Given the description of an element on the screen output the (x, y) to click on. 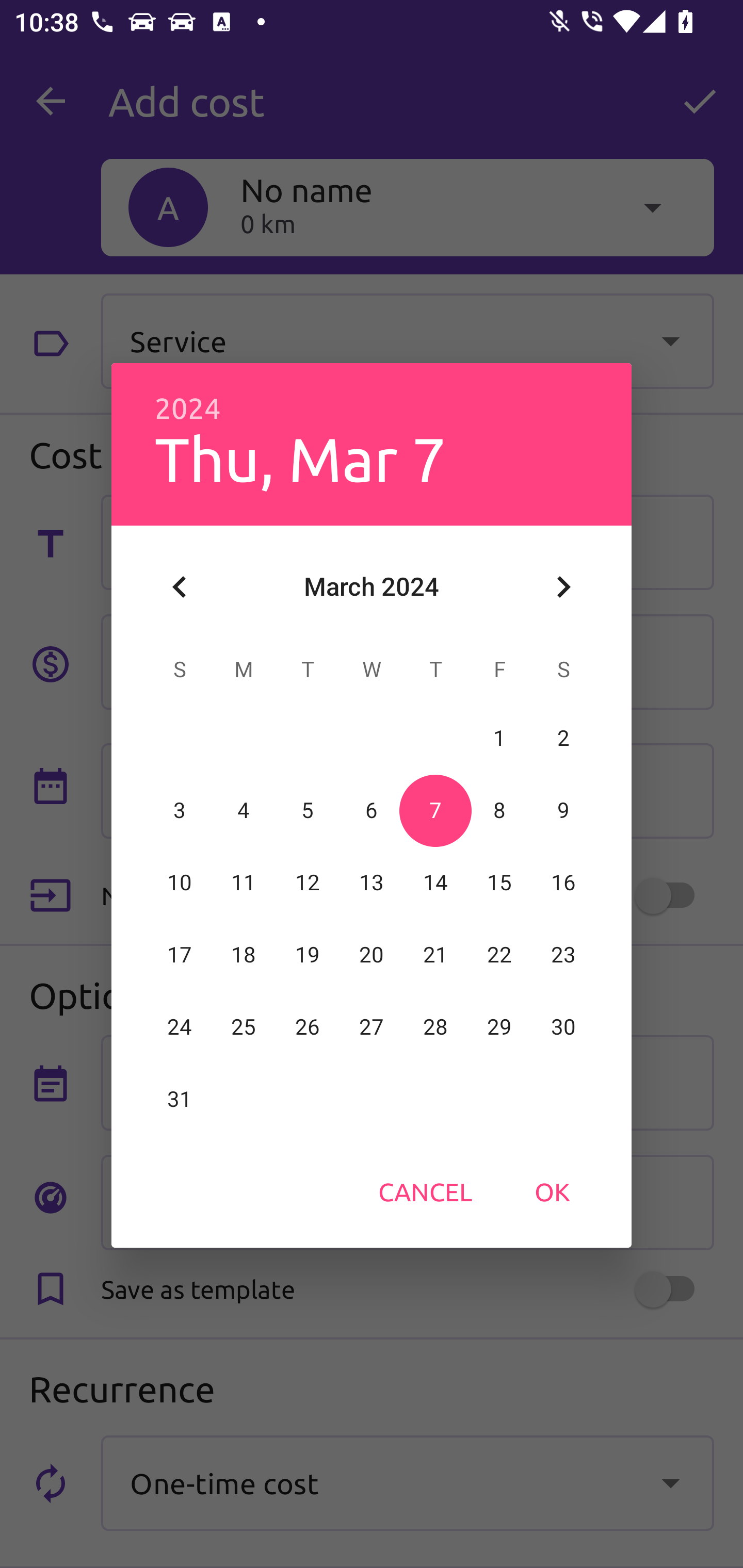
2024 (187, 408)
Thu, Mar 7 (300, 458)
Previous month (178, 587)
Next month (563, 587)
1 01 March 2024 (499, 738)
2 02 March 2024 (563, 738)
3 03 March 2024 (179, 810)
4 04 March 2024 (243, 810)
5 05 March 2024 (307, 810)
6 06 March 2024 (371, 810)
7 07 March 2024 (435, 810)
8 08 March 2024 (499, 810)
9 09 March 2024 (563, 810)
10 10 March 2024 (179, 882)
11 11 March 2024 (243, 882)
12 12 March 2024 (307, 882)
13 13 March 2024 (371, 882)
14 14 March 2024 (435, 882)
15 15 March 2024 (499, 882)
16 16 March 2024 (563, 882)
17 17 March 2024 (179, 954)
18 18 March 2024 (243, 954)
19 19 March 2024 (307, 954)
20 20 March 2024 (371, 954)
21 21 March 2024 (435, 954)
22 22 March 2024 (499, 954)
23 23 March 2024 (563, 954)
24 24 March 2024 (179, 1026)
25 25 March 2024 (243, 1026)
26 26 March 2024 (307, 1026)
27 27 March 2024 (371, 1026)
28 28 March 2024 (435, 1026)
29 29 March 2024 (499, 1026)
30 30 March 2024 (563, 1026)
31 31 March 2024 (179, 1099)
CANCEL (425, 1191)
OK (552, 1191)
